Given the description of an element on the screen output the (x, y) to click on. 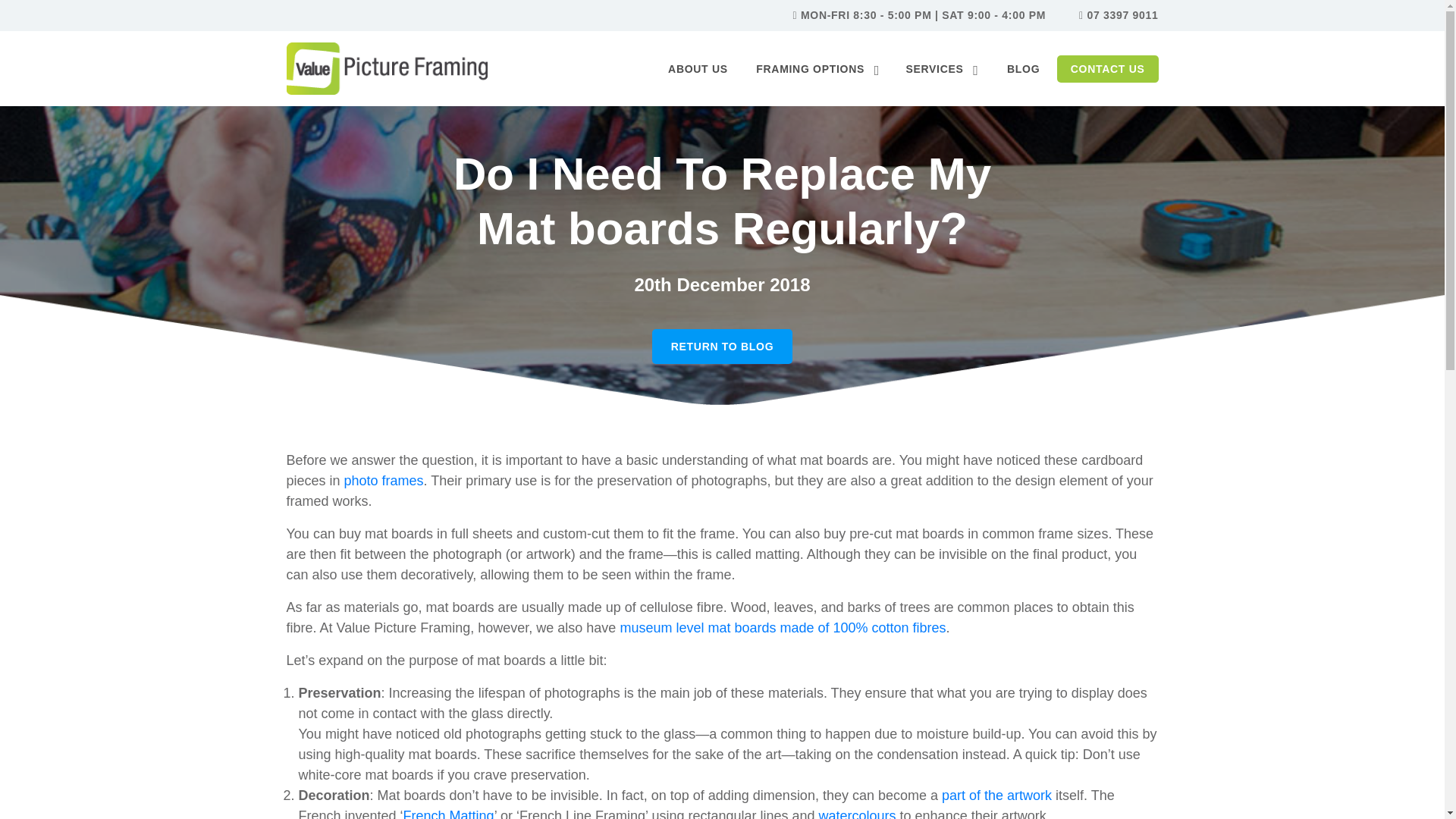
FRAMING OPTIONS (817, 68)
07 3397 9011 (1121, 15)
CONTACT US (1107, 68)
SERVICES (941, 68)
ABOUT US (697, 68)
BLOG (1022, 68)
